Given the description of an element on the screen output the (x, y) to click on. 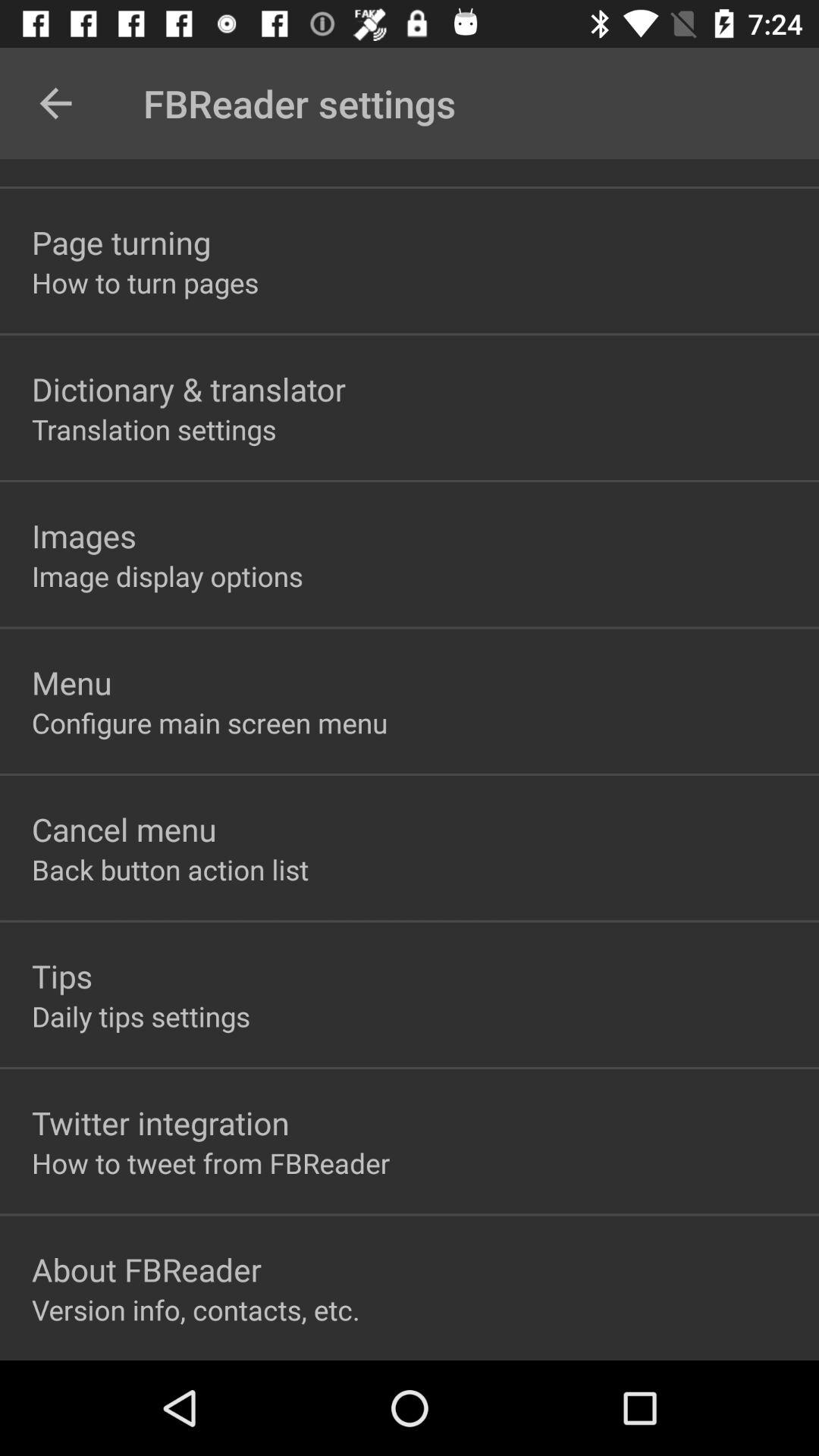
flip until translation settings (153, 429)
